Given the description of an element on the screen output the (x, y) to click on. 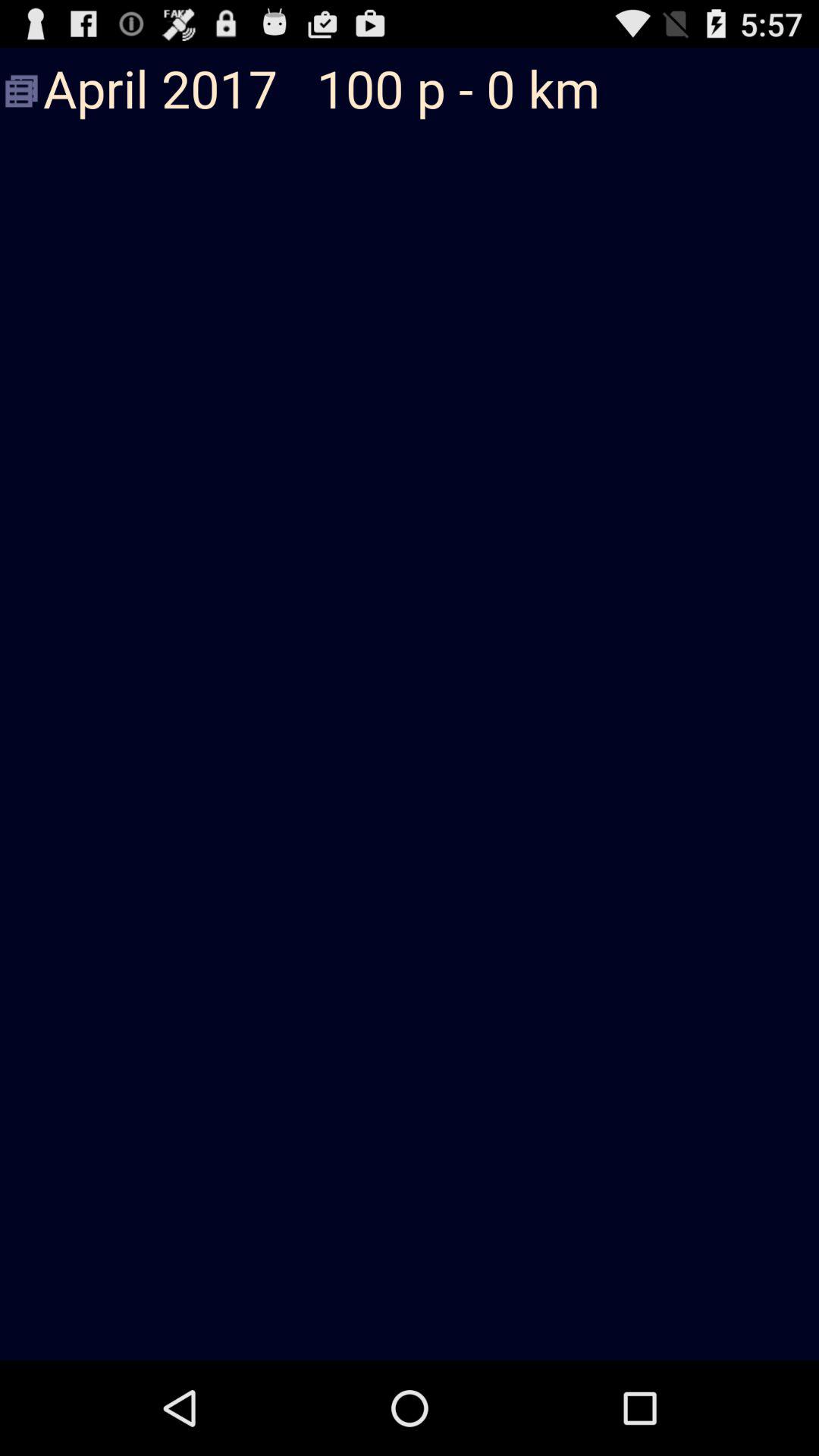
swipe until the april 2017 100 item (409, 90)
